Given the description of an element on the screen output the (x, y) to click on. 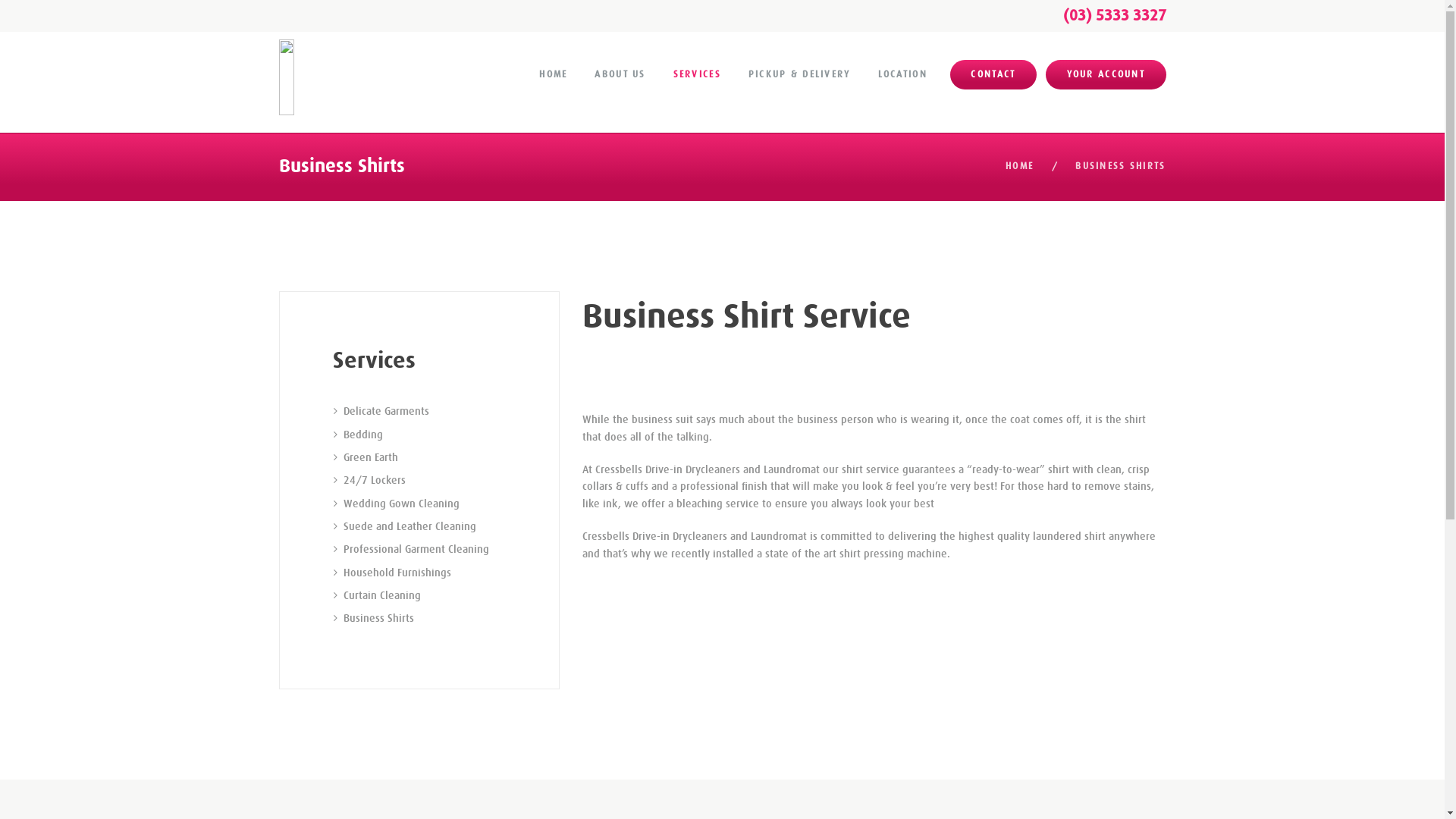
PICKUP & DELIVERY Element type: text (799, 73)
ABOUT US Element type: text (619, 73)
SERVICES Element type: text (696, 73)
CONTACT Element type: text (993, 74)
Suede and Leather Cleaning Element type: text (408, 526)
Wedding Gown Cleaning Element type: text (400, 503)
Professional Garment Cleaning Element type: text (415, 548)
Business Shirts Element type: text (377, 617)
Delicate Garments Element type: text (385, 410)
LOCATION Element type: text (902, 73)
24/7 Lockers Element type: text (373, 479)
Green Earth Element type: text (369, 457)
Curtain Cleaning Element type: text (381, 595)
HOME Element type: text (552, 73)
YOUR ACCOUNT Element type: text (1105, 74)
Household Furnishings Element type: text (396, 572)
Bedding Element type: text (362, 434)
HOME Element type: text (1019, 166)
